Given the description of an element on the screen output the (x, y) to click on. 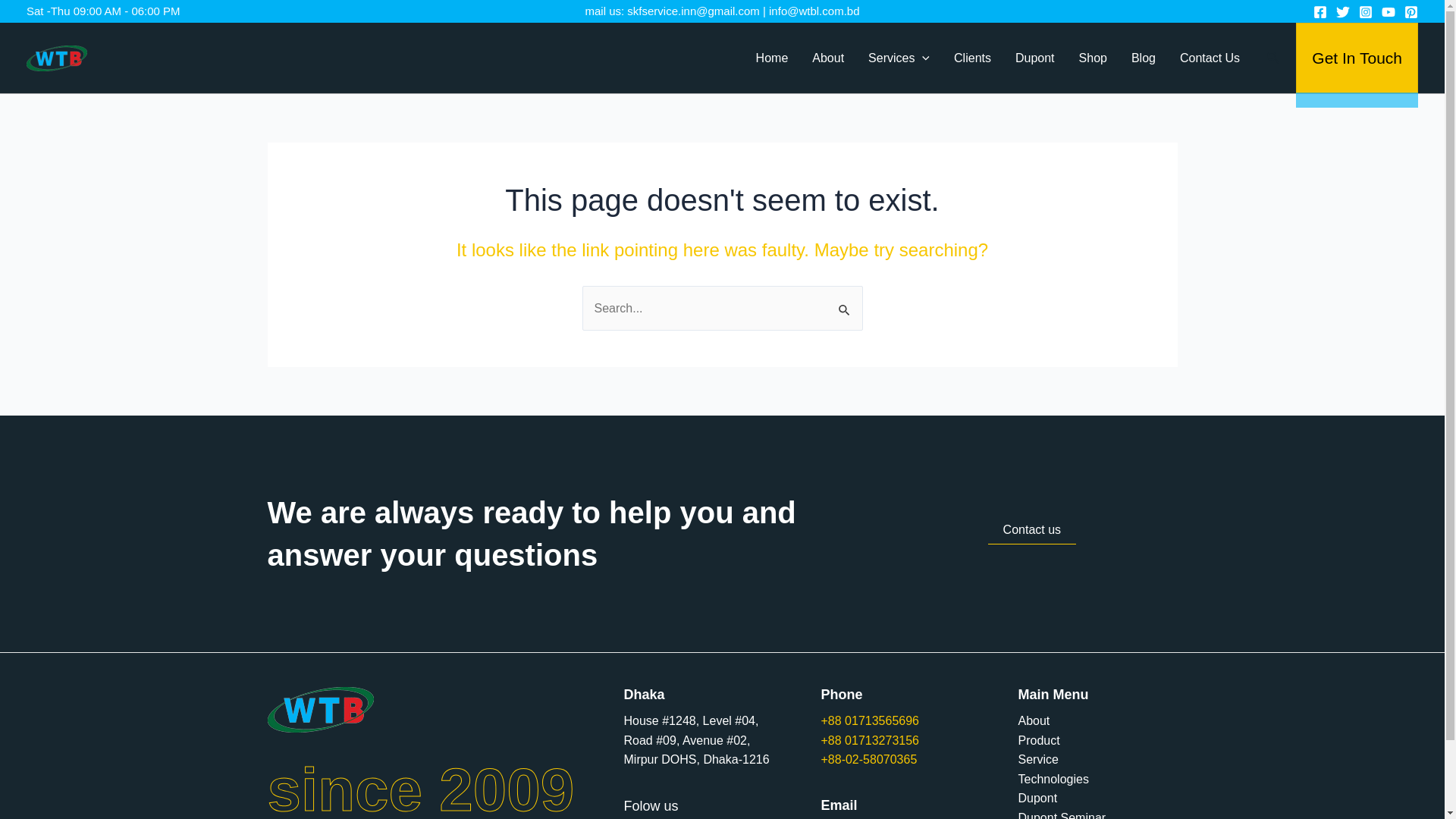
Dupont Element type: text (1034, 58)
Dupont Element type: text (1037, 798)
Shop Element type: text (1092, 58)
Search Element type: text (1273, 58)
Service Element type: text (1037, 759)
Contact us Element type: text (1032, 530)
Home Element type: text (771, 58)
About Element type: text (828, 58)
Clients Element type: text (972, 58)
Search Element type: text (845, 301)
Product Element type: text (1038, 740)
Technologies Element type: text (1052, 779)
Blog Element type: text (1143, 58)
Contact Us Element type: text (1209, 58)
About Element type: text (1033, 721)
Get In Touch Element type: text (1356, 57)
Services Element type: text (898, 58)
